Given the description of an element on the screen output the (x, y) to click on. 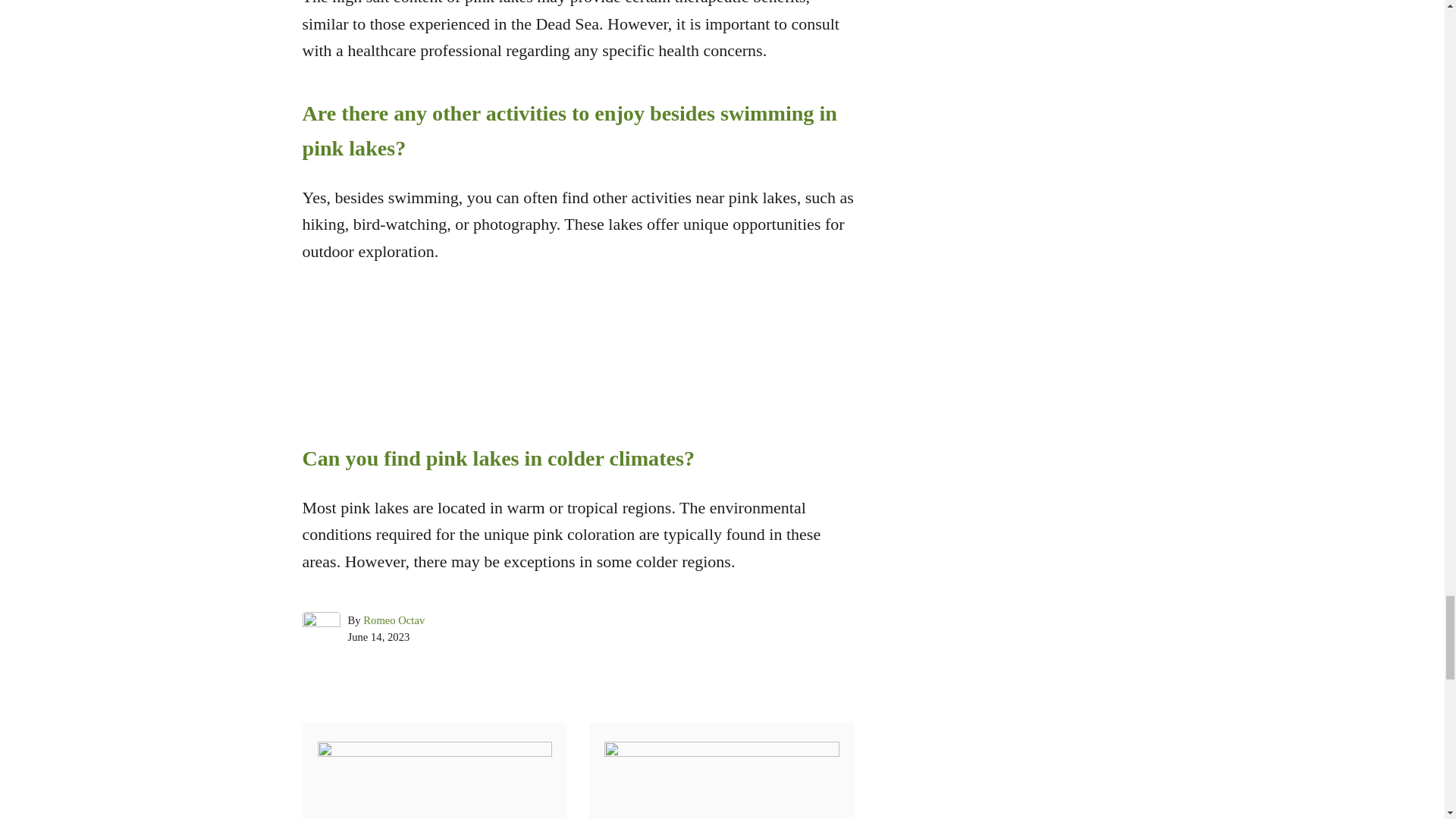
Romeo Octav (393, 620)
